Given the description of an element on the screen output the (x, y) to click on. 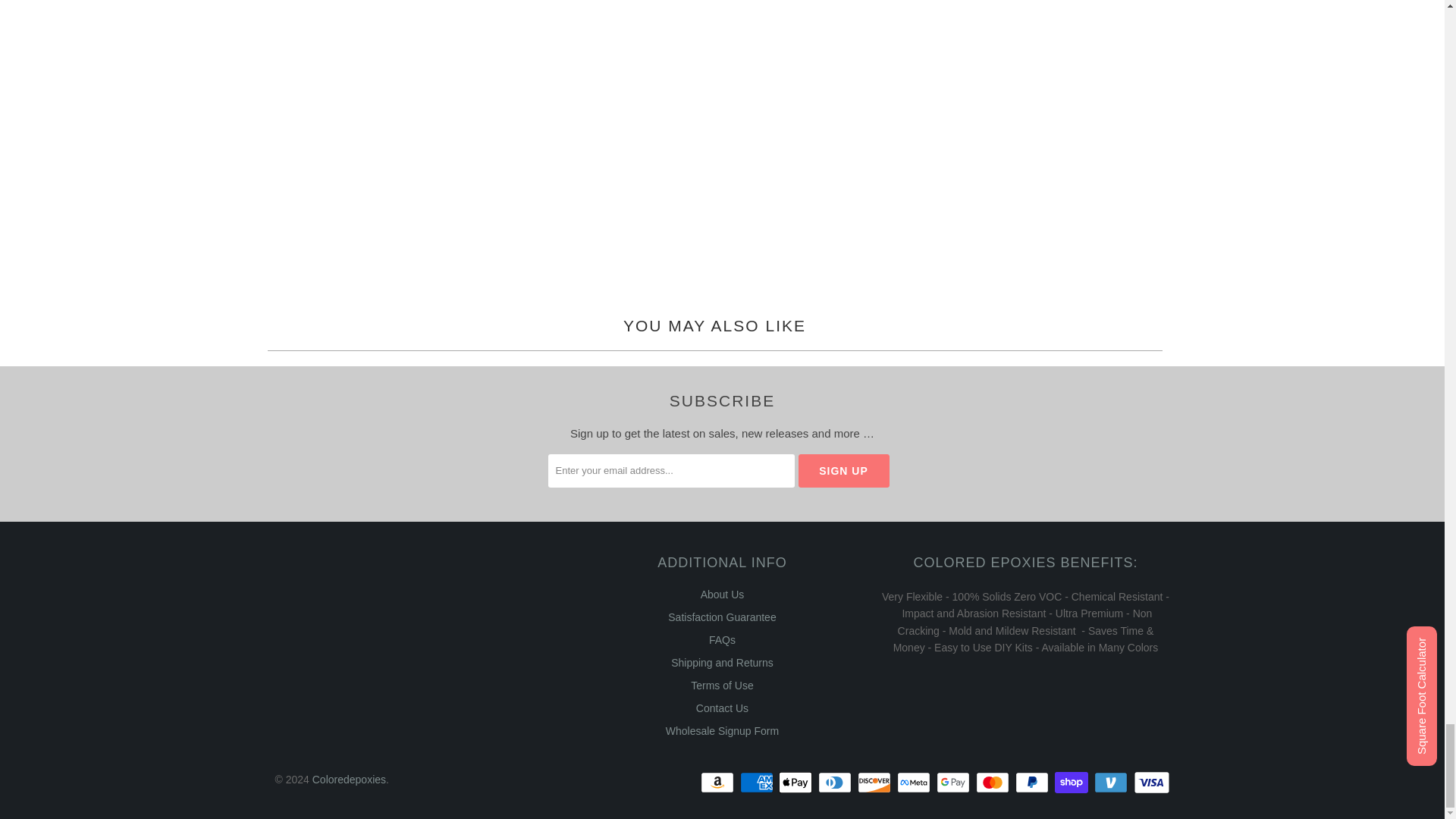
Google Pay (954, 782)
PayPal (1032, 782)
Meta Pay (914, 782)
Sign Up (842, 470)
Discover (875, 782)
Diners Club (836, 782)
Shop Pay (1072, 782)
American Express (757, 782)
Apple Pay (796, 782)
Visa (1150, 782)
Amazon (718, 782)
Mastercard (993, 782)
Venmo (1112, 782)
